Given the description of an element on the screen output the (x, y) to click on. 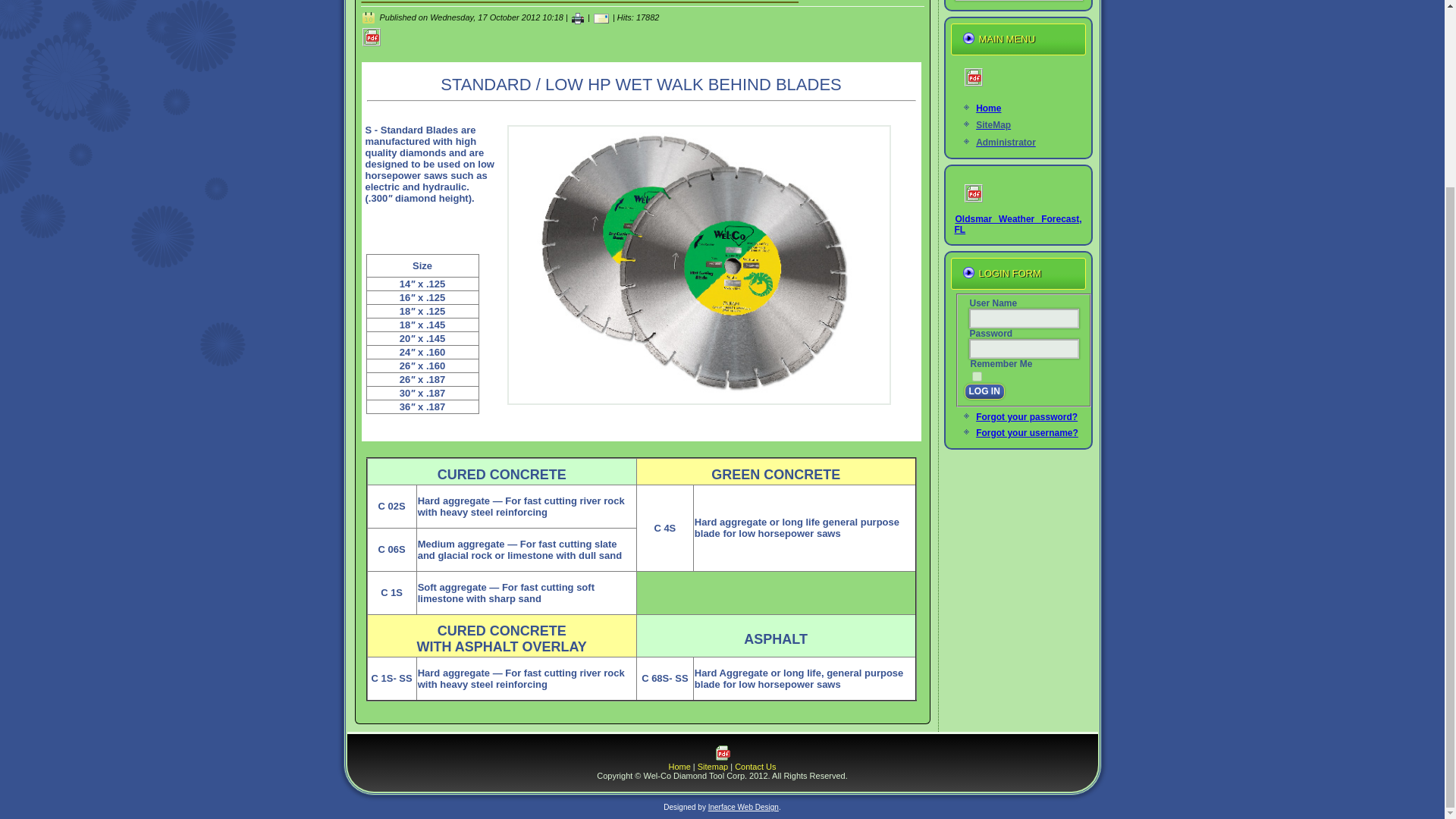
Print (721, 757)
Print (577, 17)
Log in (983, 391)
yes (976, 376)
Print (973, 208)
Print (371, 43)
Email (601, 17)
Print (973, 91)
